Given the description of an element on the screen output the (x, y) to click on. 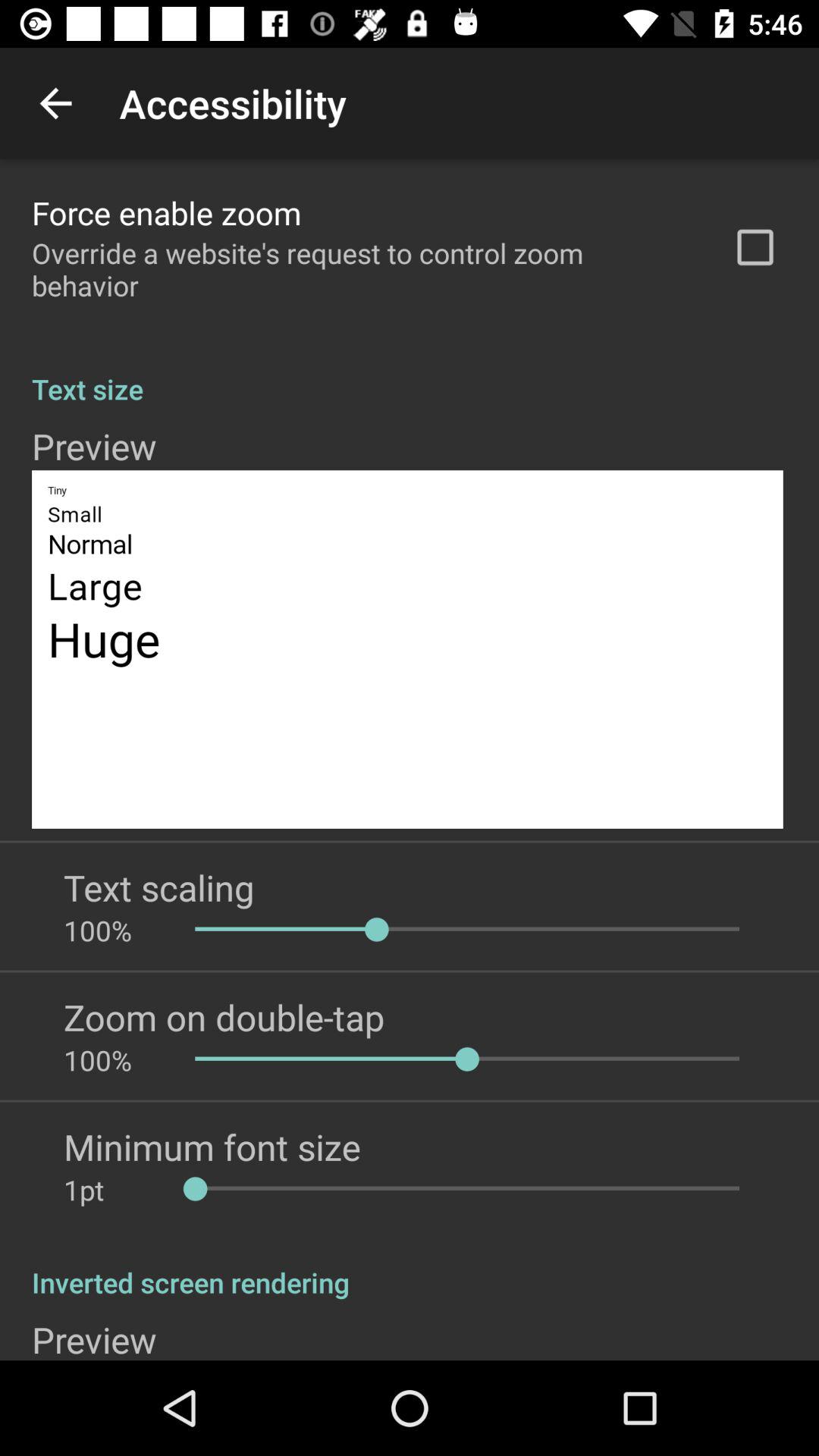
jump to the text size (409, 372)
